Given the description of an element on the screen output the (x, y) to click on. 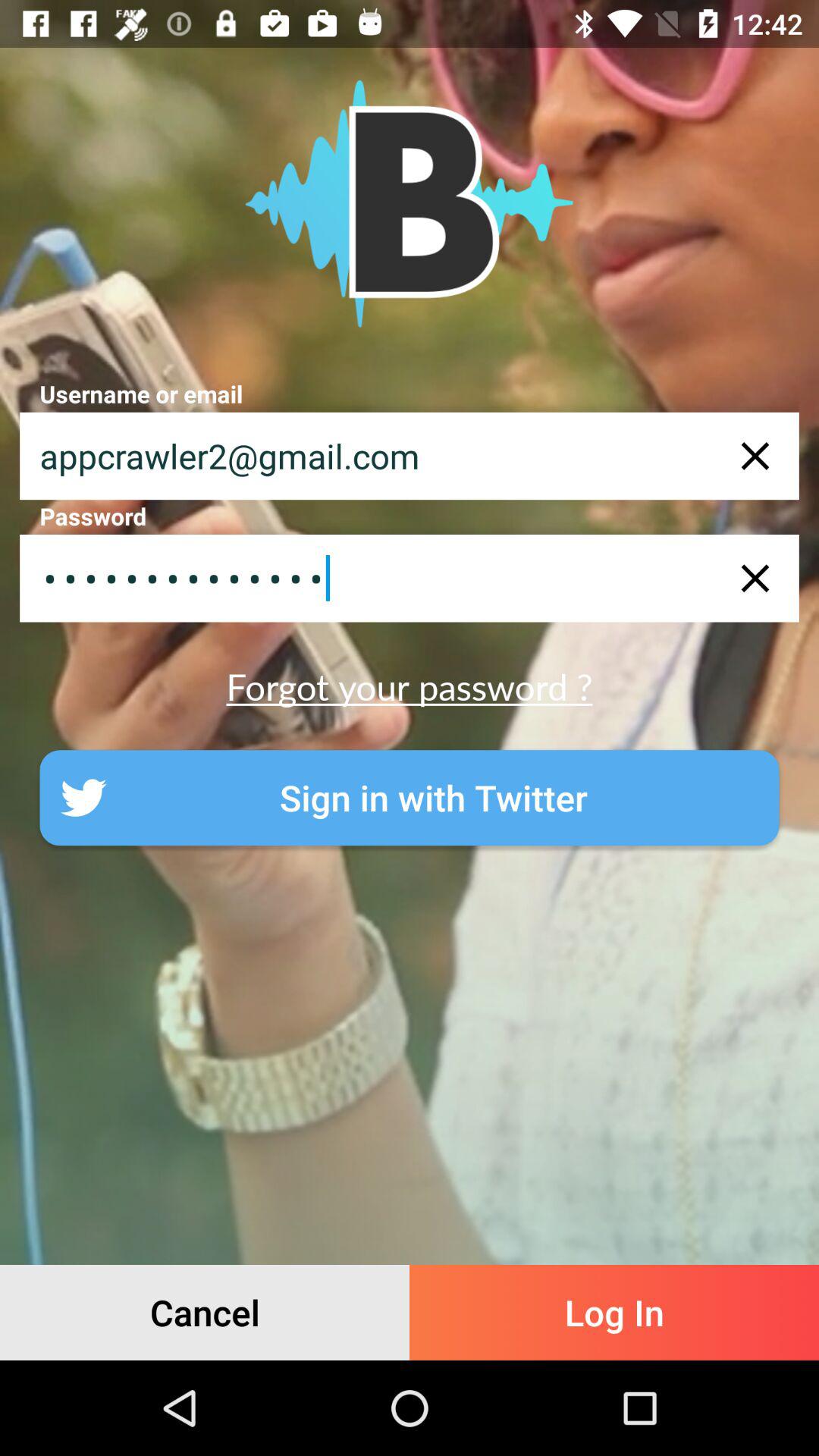
scroll to the sign in with item (409, 797)
